Given the description of an element on the screen output the (x, y) to click on. 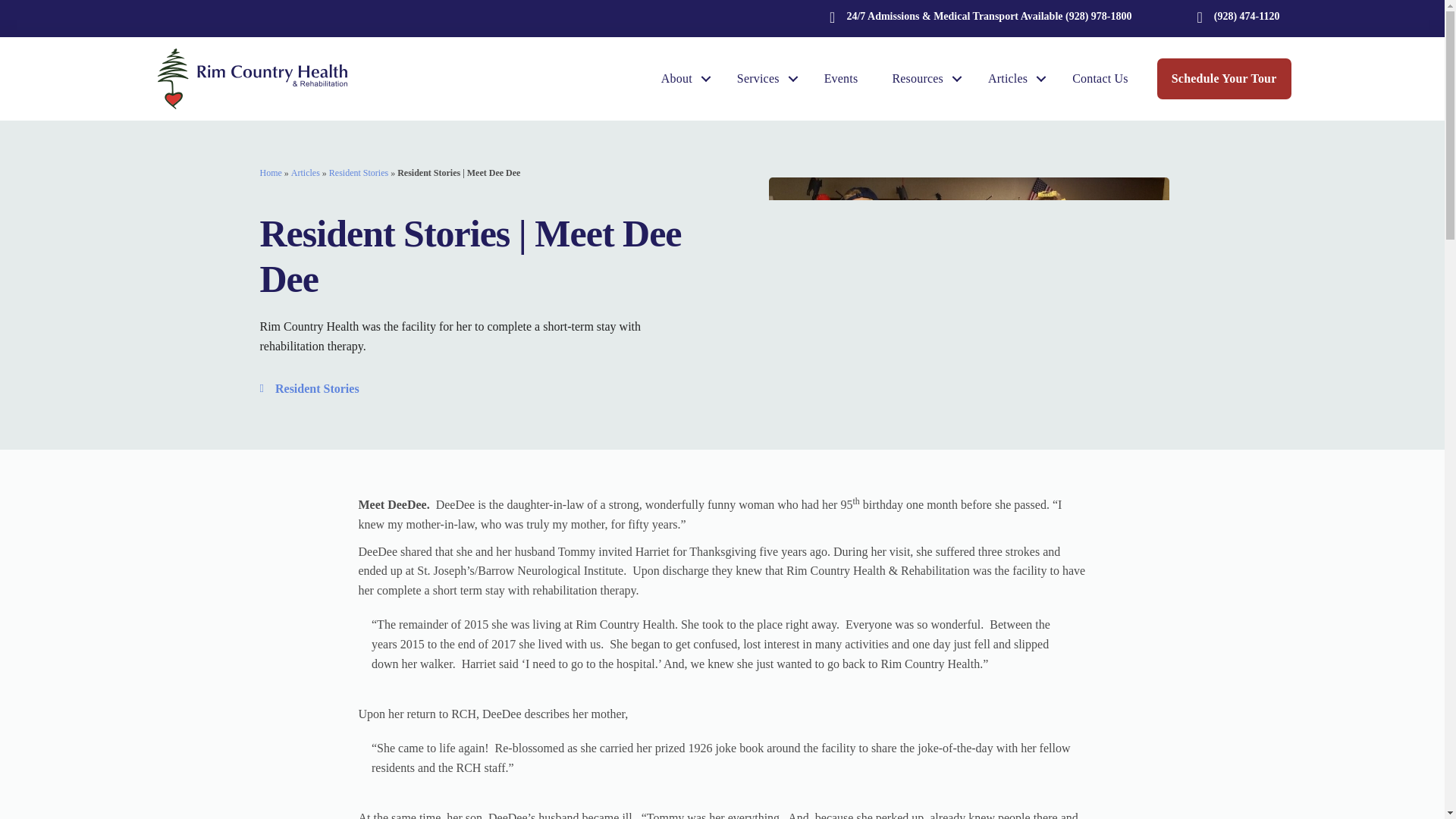
Services (763, 78)
Contact Us (1099, 78)
Resident Stories (358, 173)
Articles (1012, 78)
Articles (305, 173)
Home (270, 173)
Events (841, 78)
Schedule Your Tour (1224, 78)
RCH (252, 78)
Resources (923, 78)
